Given the description of an element on the screen output the (x, y) to click on. 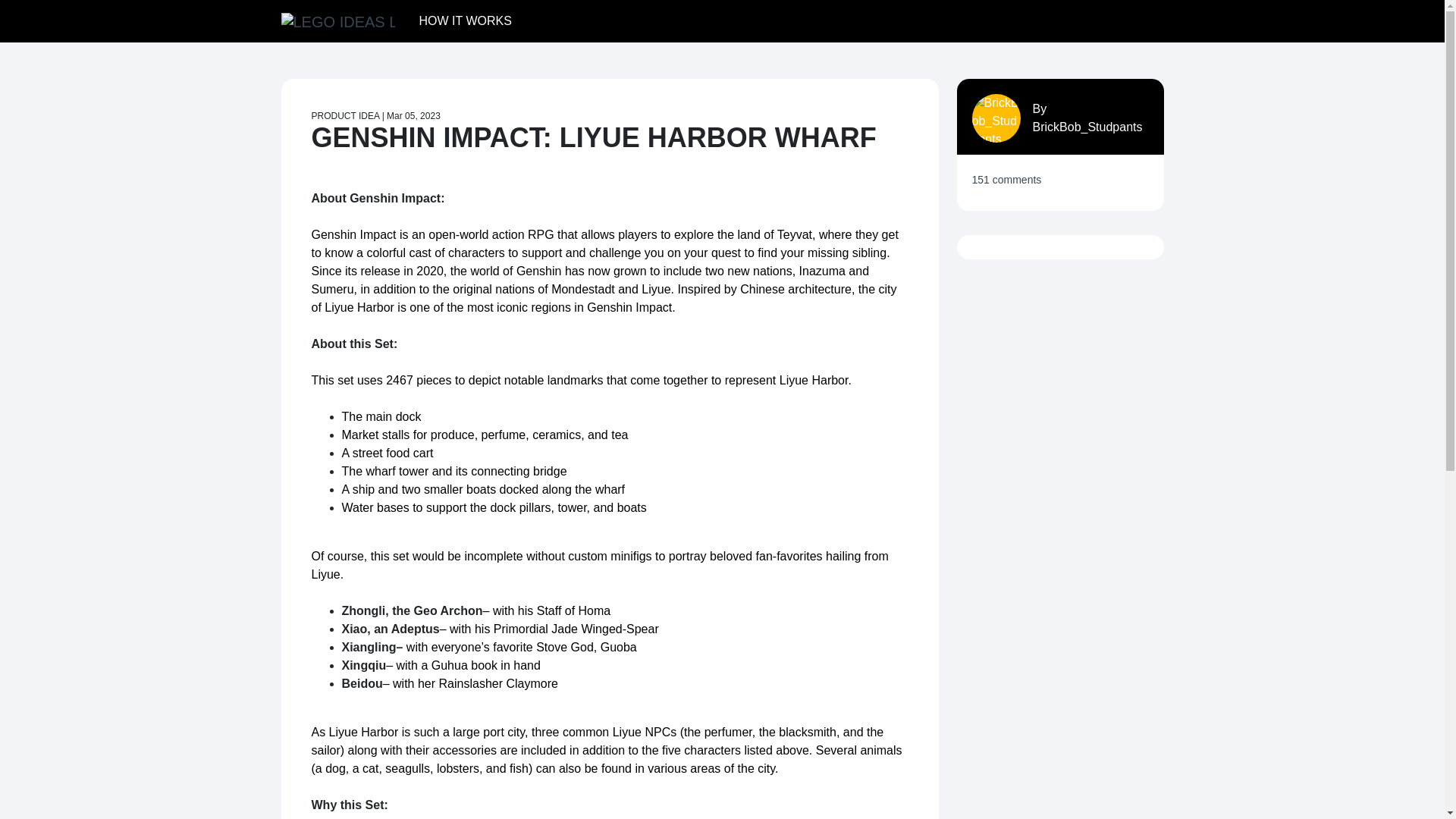
2023-03-05T18:54:59.664416Z (414, 115)
How It Works (464, 20)
HOW IT WORKS (464, 20)
